Given the description of an element on the screen output the (x, y) to click on. 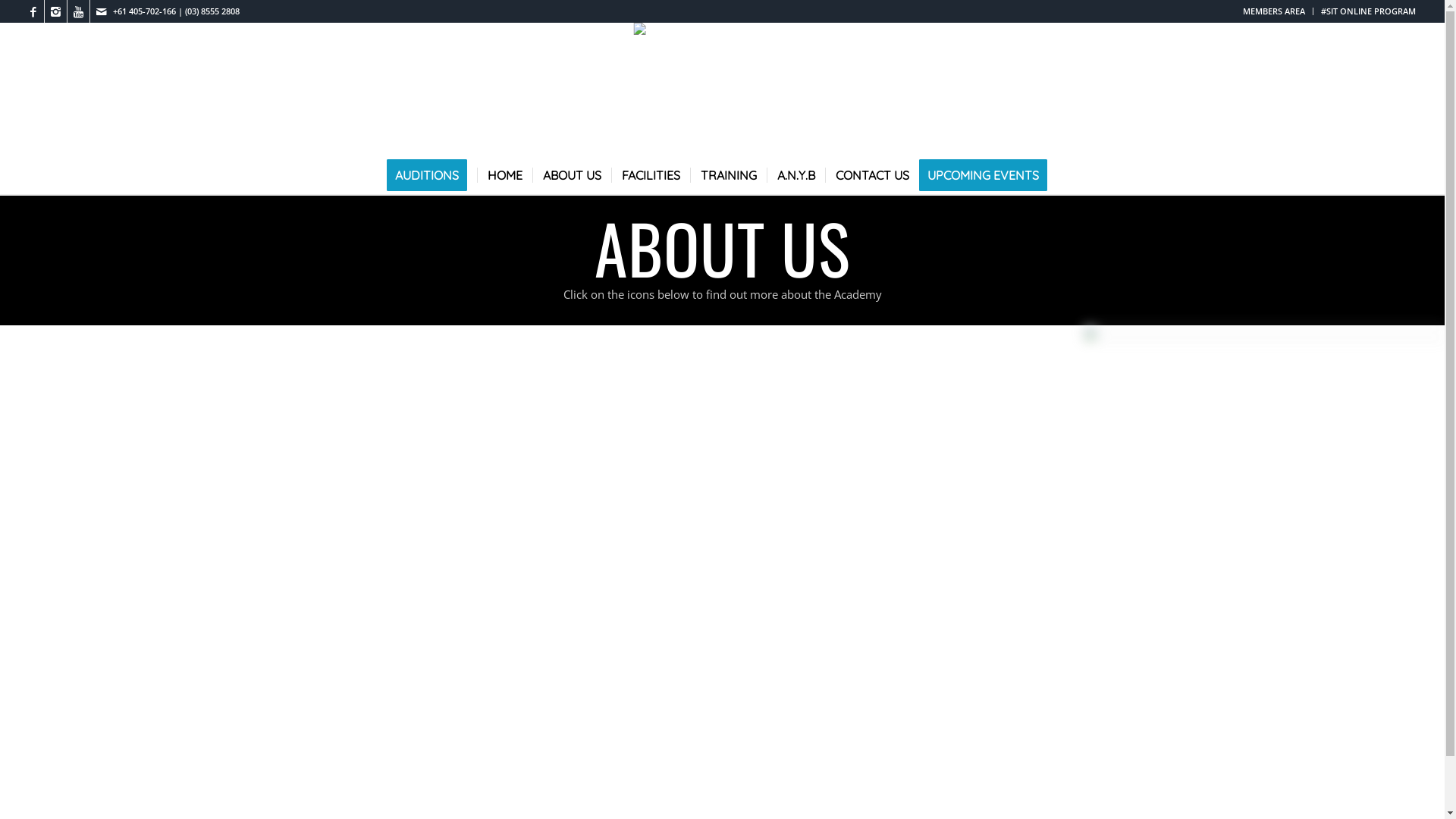
AUDITIONS Element type: text (431, 175)
FACILITIES Element type: text (650, 175)
Instagram Element type: hover (55, 11)
Facebook Element type: hover (32, 11)
#SIT ONLINE PROGRAM Element type: text (1368, 10)
A.N.Y.B Element type: text (795, 175)
UPCOMING EVENTS Element type: text (988, 175)
Youtube Element type: hover (78, 11)
Mail Element type: hover (101, 11)
ABOUT US Element type: text (571, 175)
TRAINING Element type: text (728, 175)
HOME Element type: text (504, 175)
CONTACT US Element type: text (872, 175)
MEMBERS AREA Element type: text (1273, 10)
